Given the description of an element on the screen output the (x, y) to click on. 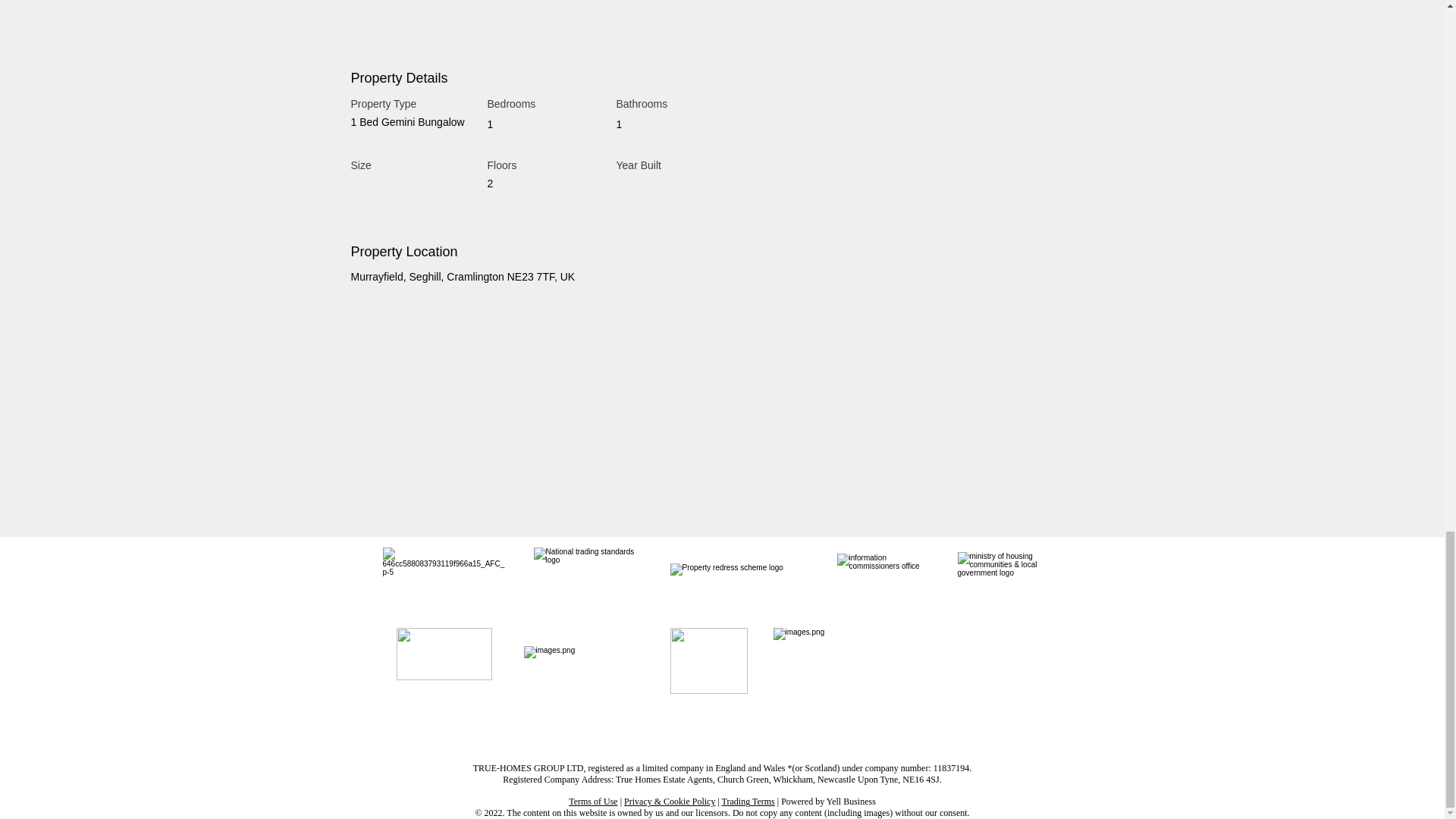
Terms of Use (593, 801)
mhclg.png (1007, 580)
logo.png (738, 580)
chartered.jpg (442, 580)
Trading Terms (748, 801)
3.jpg (587, 580)
on the market.png (585, 663)
cyber essentials plus badge (708, 660)
Residental landlords co logo (444, 654)
Top Performer award from NE63 (915, 649)
